Given the description of an element on the screen output the (x, y) to click on. 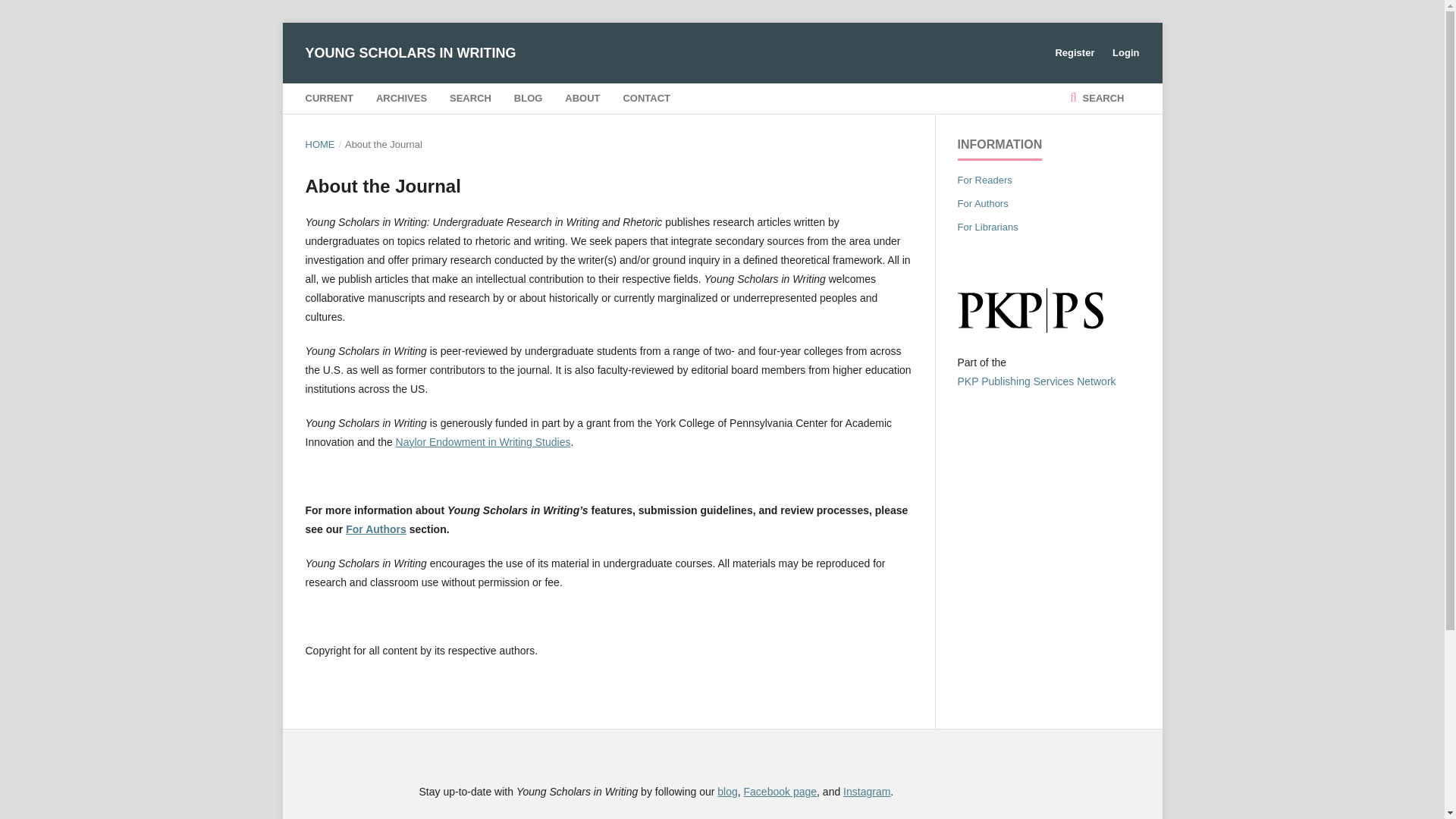
Register (1074, 52)
Facebook page (780, 791)
CURRENT (328, 98)
YSW Blog (726, 791)
CONTACT (646, 98)
SEARCH (470, 98)
Login (1121, 52)
For Authors (981, 203)
For Authors (376, 529)
ARCHIVES (400, 98)
YOUNG SCHOLARS IN WRITING (409, 53)
For Readers (983, 179)
YSW Instagram account (866, 791)
BLOG (528, 98)
For Librarians (986, 226)
